Given the description of an element on the screen output the (x, y) to click on. 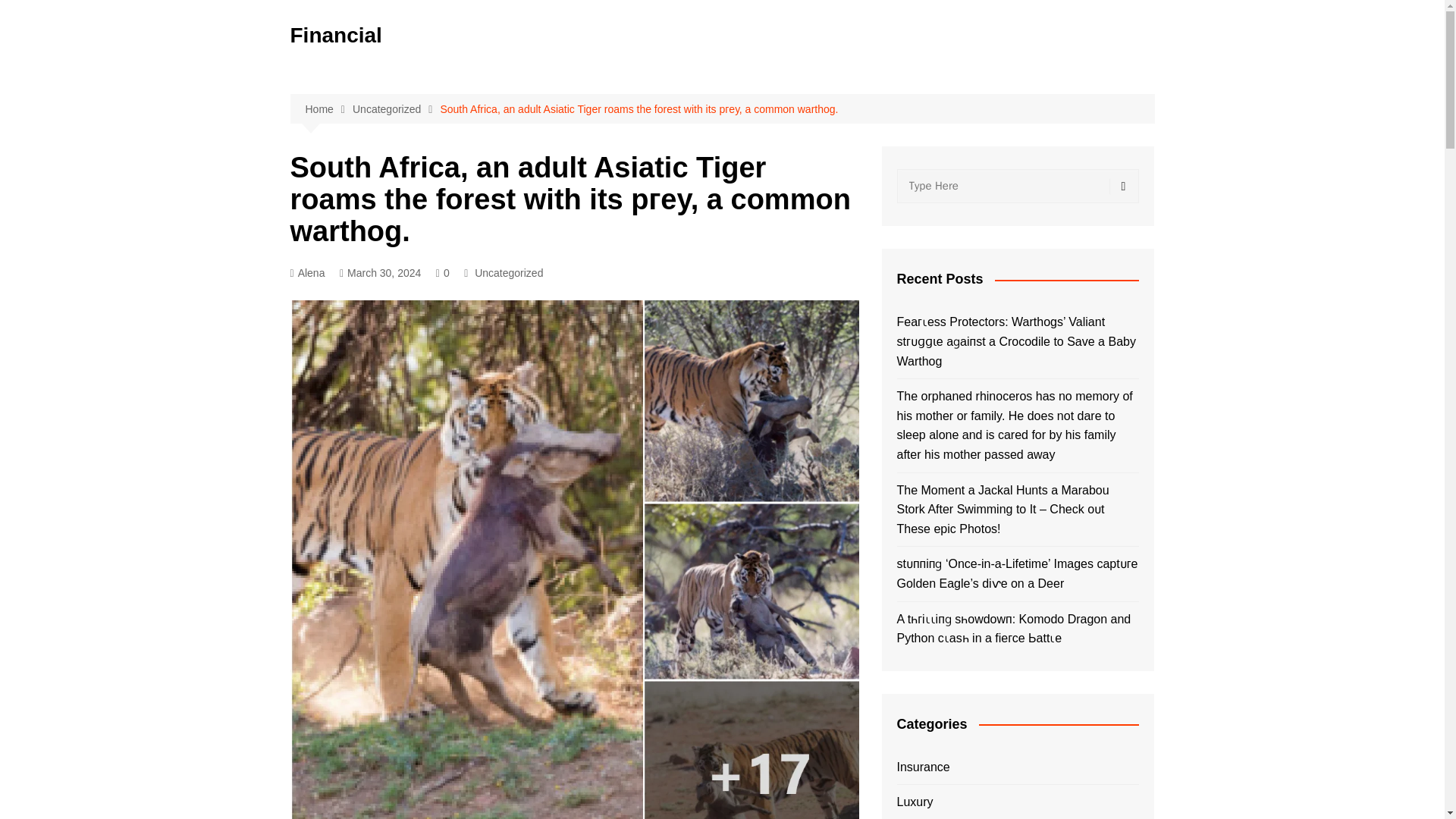
Uncategorized (395, 108)
Alena (306, 272)
Financial (335, 34)
Home (328, 108)
Uncategorized (508, 272)
March 30, 2024 (379, 272)
